Given the description of an element on the screen output the (x, y) to click on. 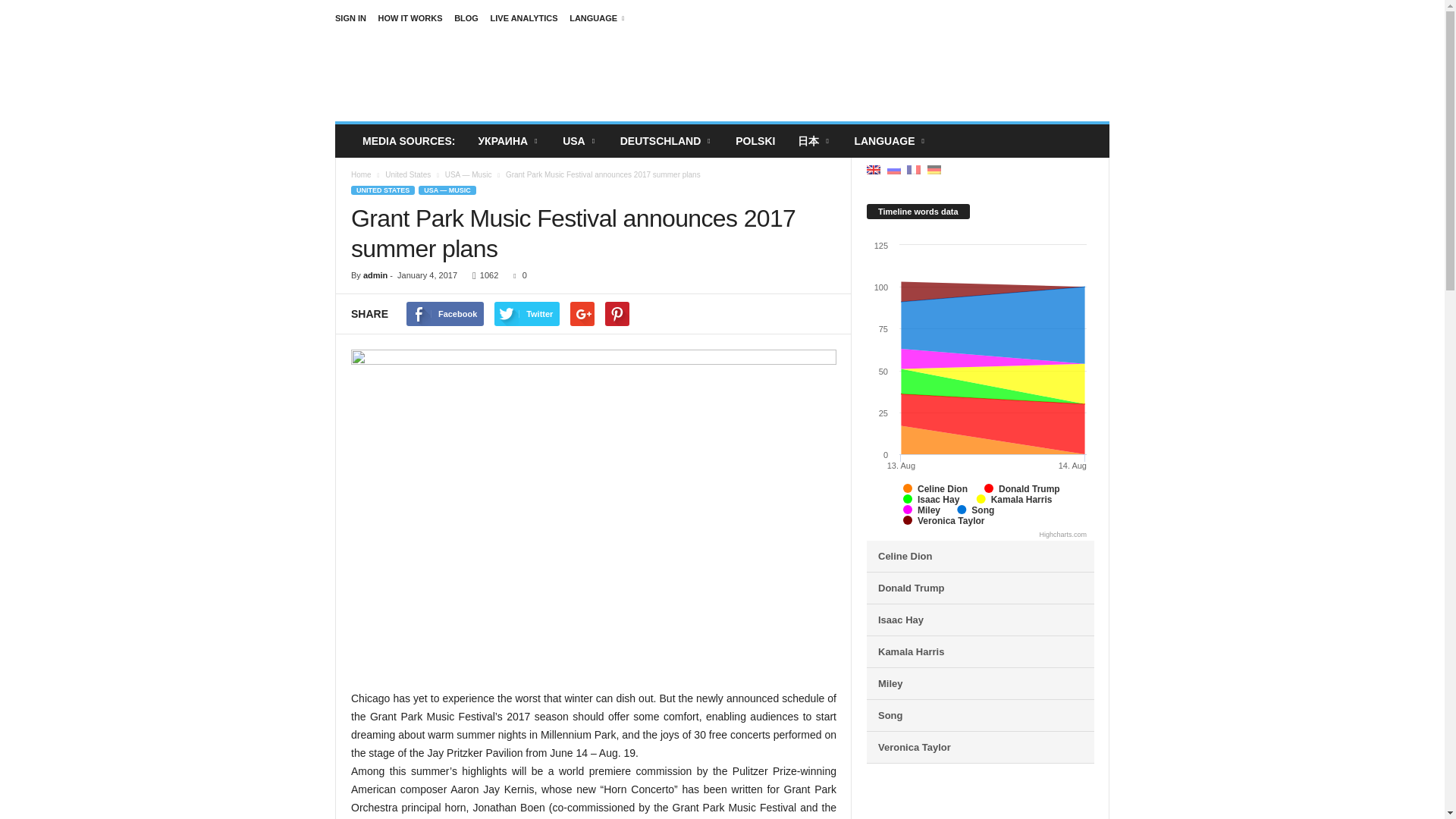
LIVE ANALYTICS (523, 17)
SIGN IN (350, 17)
View all posts in United States (408, 174)
English (890, 141)
HOW IT WORKS (410, 17)
BLOG (466, 17)
